Given the description of an element on the screen output the (x, y) to click on. 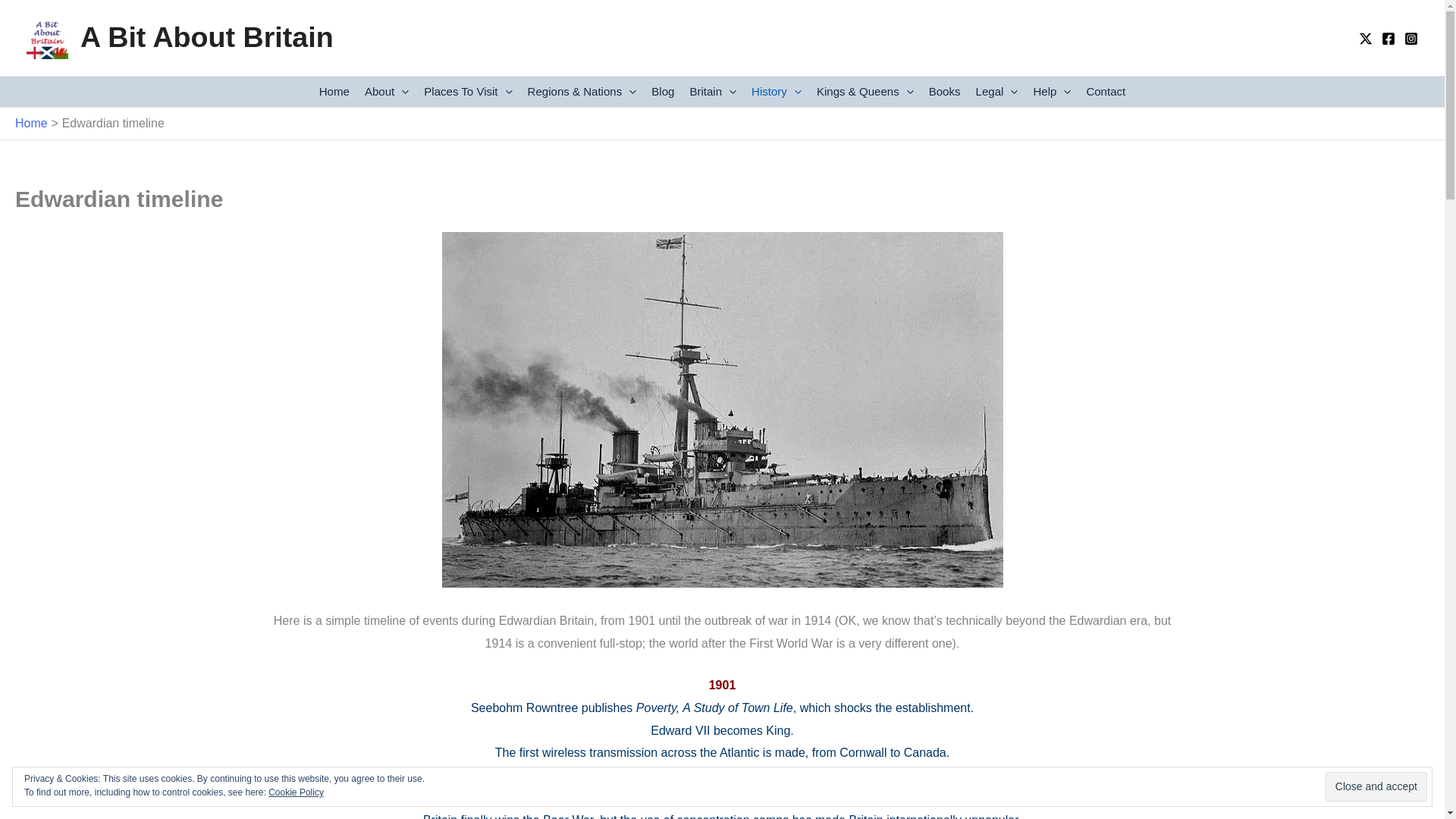
Places To Visit (467, 92)
Blog (662, 92)
Close and accept (1375, 786)
About (386, 92)
Home (333, 92)
A Bit About Britain (206, 37)
Britain (712, 92)
